Given the description of an element on the screen output the (x, y) to click on. 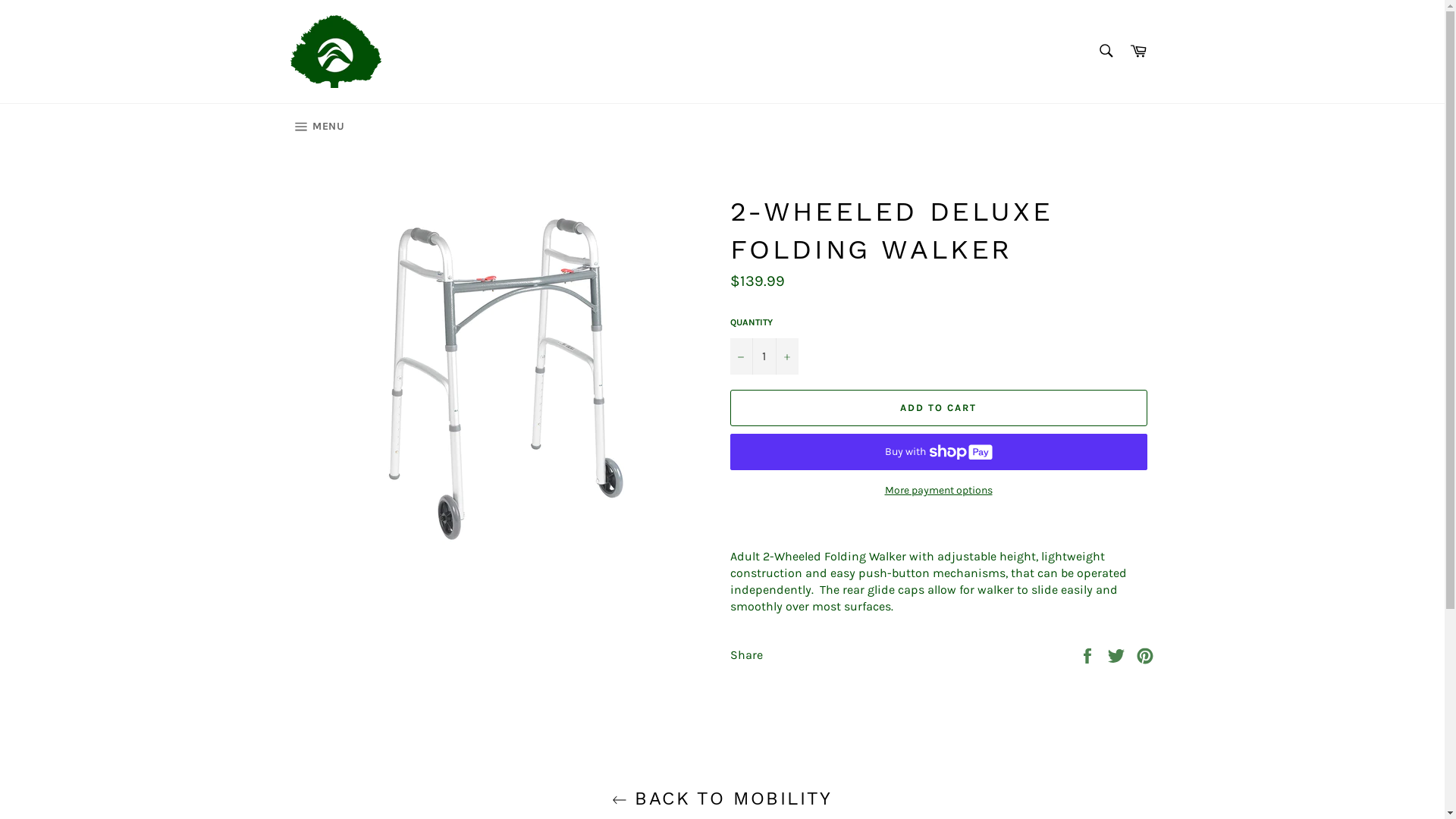
More payment options Element type: text (937, 490)
Cart Element type: text (1138, 51)
+ Element type: text (786, 356)
ADD TO CART Element type: text (937, 407)
Search Element type: text (1105, 50)
Pin on Pinterest Element type: text (1144, 653)
Share on Facebook Element type: text (1088, 653)
BACK TO MOBILITY Element type: text (722, 798)
Tweet on Twitter Element type: text (1117, 653)
MENU
SITE NAVIGATION Element type: text (316, 126)
